Given the description of an element on the screen output the (x, y) to click on. 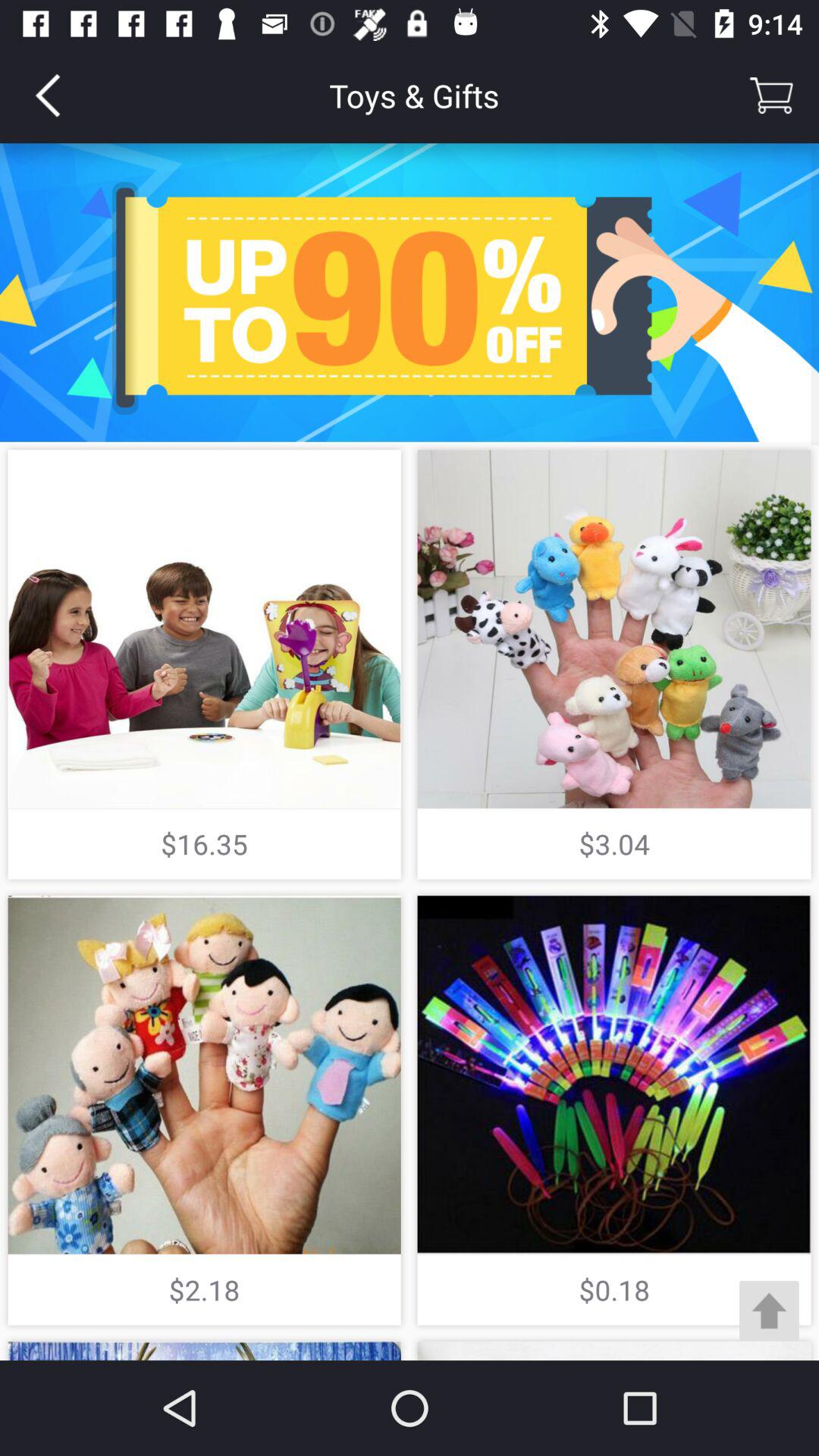
turn off icon next to toys & gifts item (47, 95)
